Given the description of an element on the screen output the (x, y) to click on. 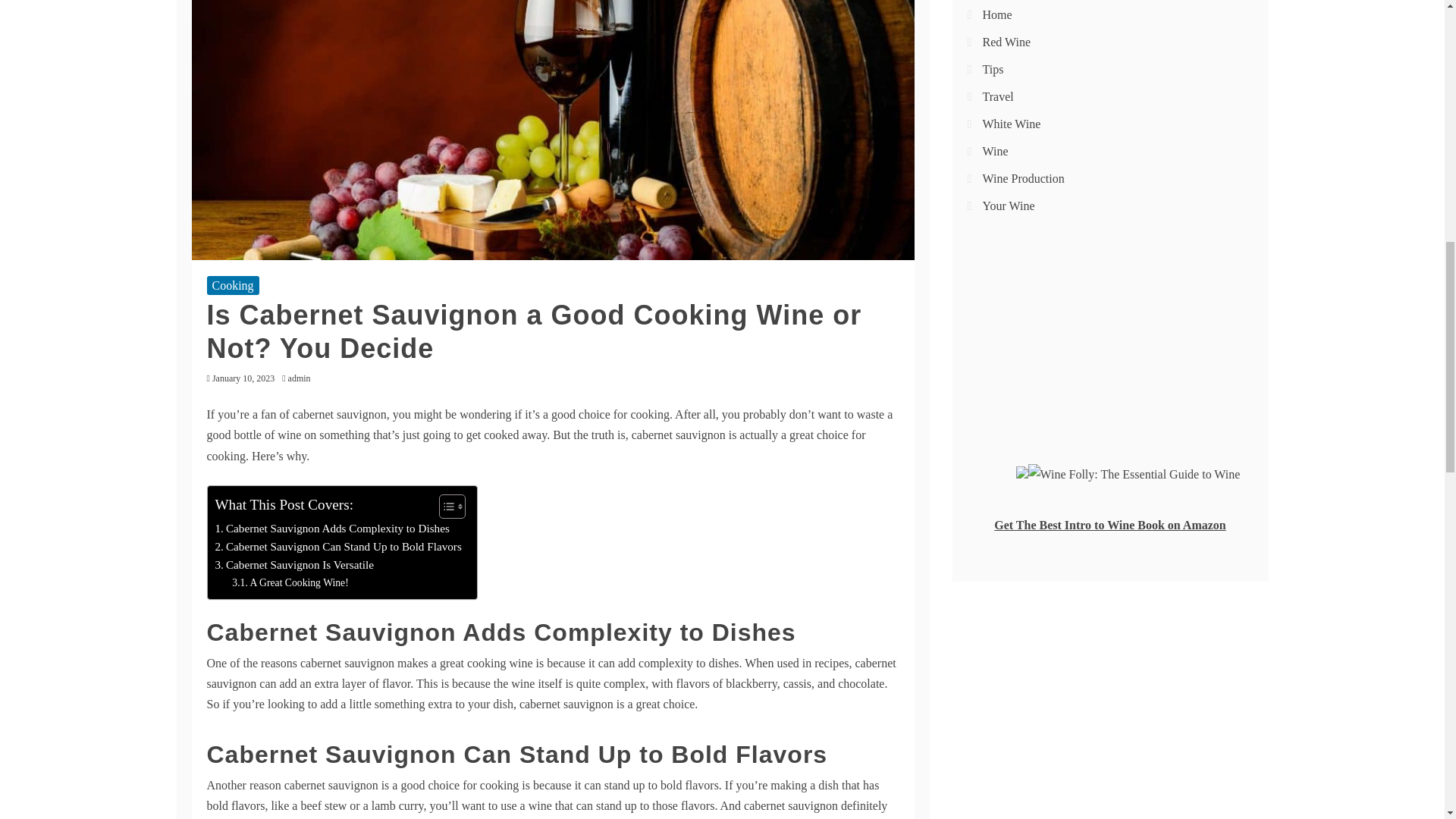
Cabernet Sauvignon Can Stand Up to Bold Flavors (338, 546)
January 10, 2023 (243, 378)
Cabernet Sauvignon Adds Complexity to Dishes (332, 528)
Cooking (232, 285)
Cabernet Sauvignon Is Versatile (294, 565)
Cabernet Sauvignon Can Stand Up to Bold Flavors (338, 546)
Cabernet Sauvignon Adds Complexity to Dishes (332, 528)
A Great Cooking Wine! (289, 582)
Cabernet Sauvignon Is Versatile (294, 565)
admin (303, 378)
A Great Cooking Wine! (289, 582)
